Given the description of an element on the screen output the (x, y) to click on. 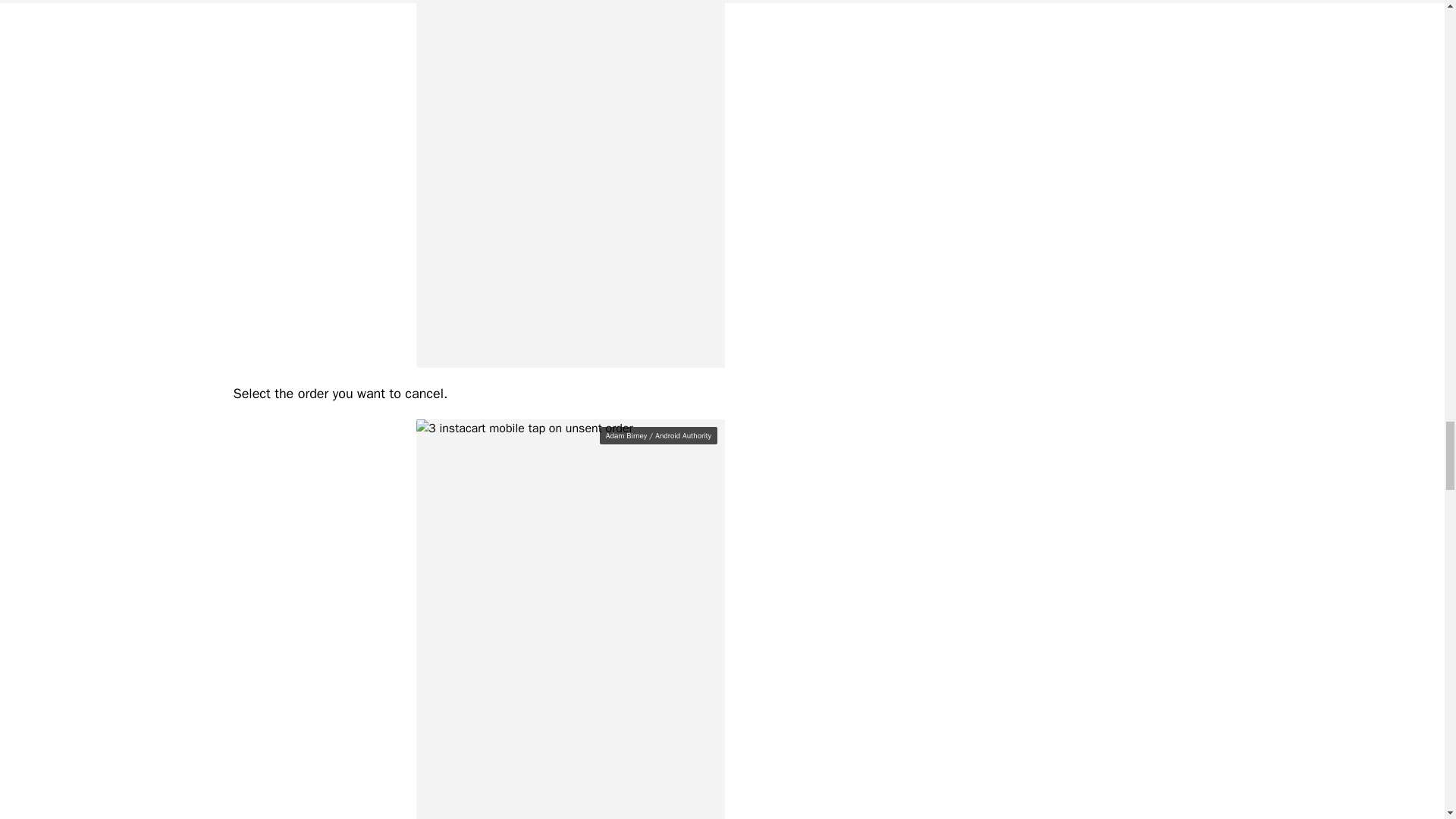
3 instacart mobile tap on unsent order (570, 619)
2 instacart mobile your orders button (570, 183)
